Given the description of an element on the screen output the (x, y) to click on. 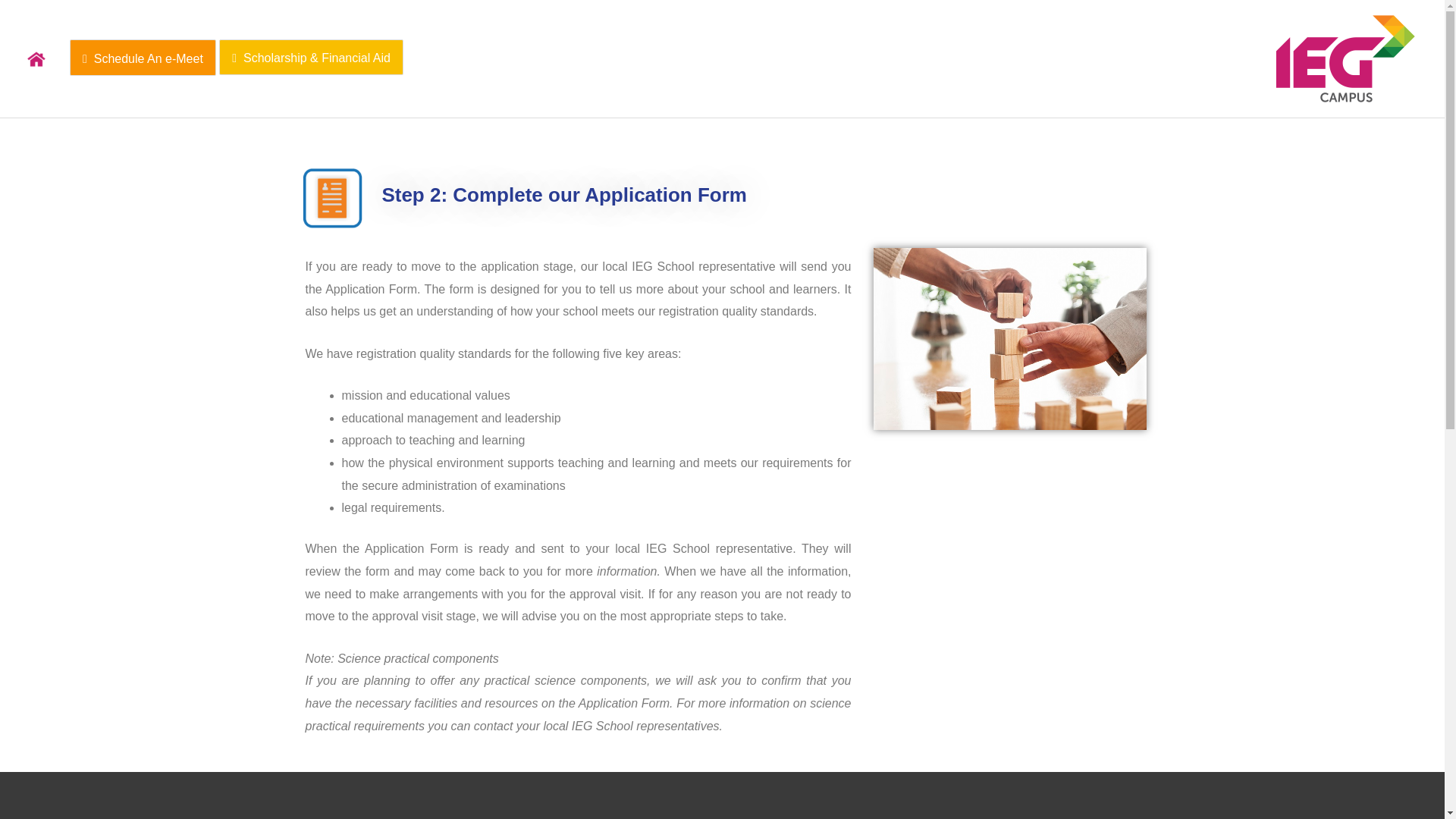
  Schedule An e-Meet (142, 57)
  Schedule An e-Meet (142, 58)
